Given the description of an element on the screen output the (x, y) to click on. 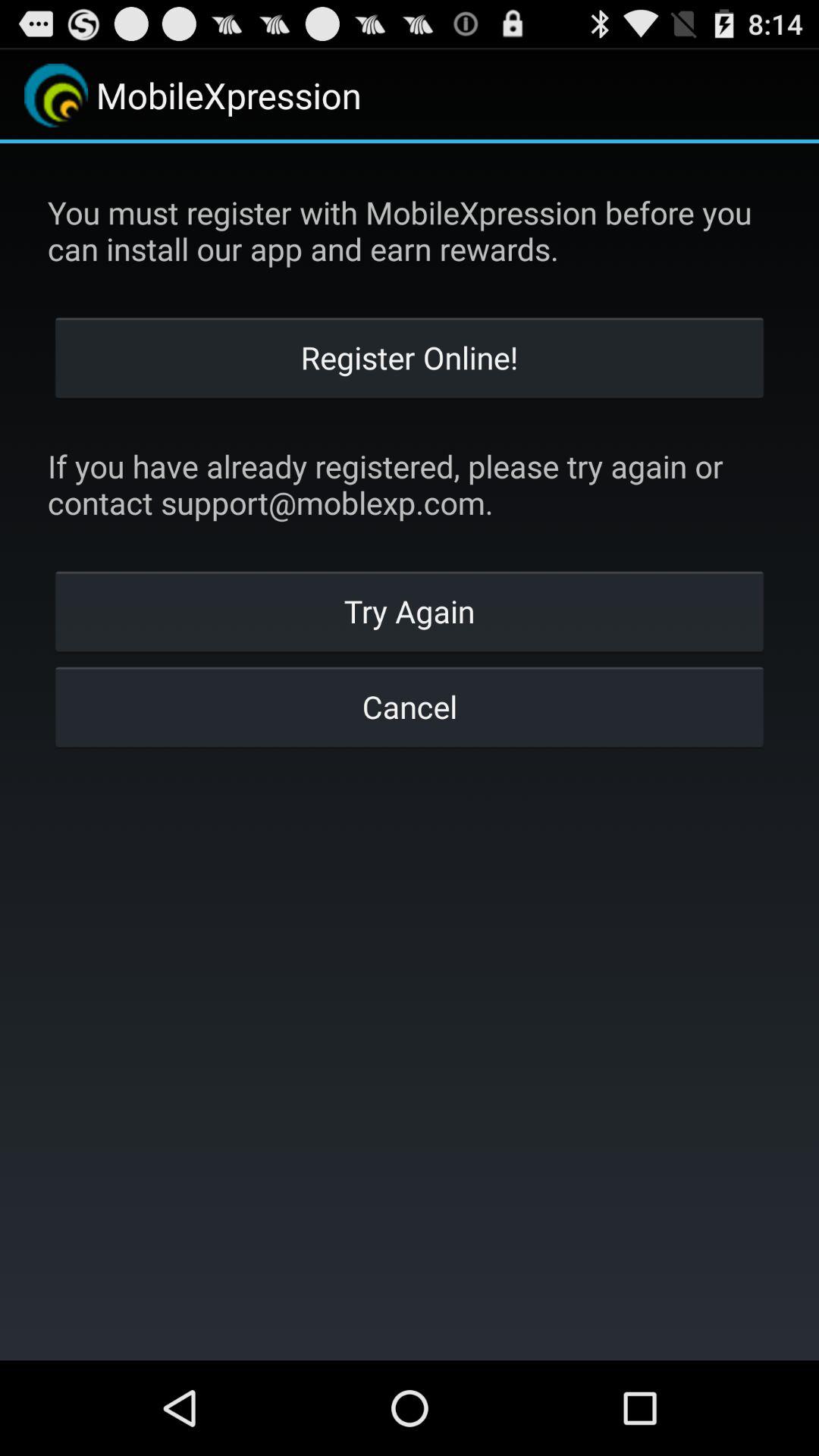
select the button below try again (409, 706)
